Given the description of an element on the screen output the (x, y) to click on. 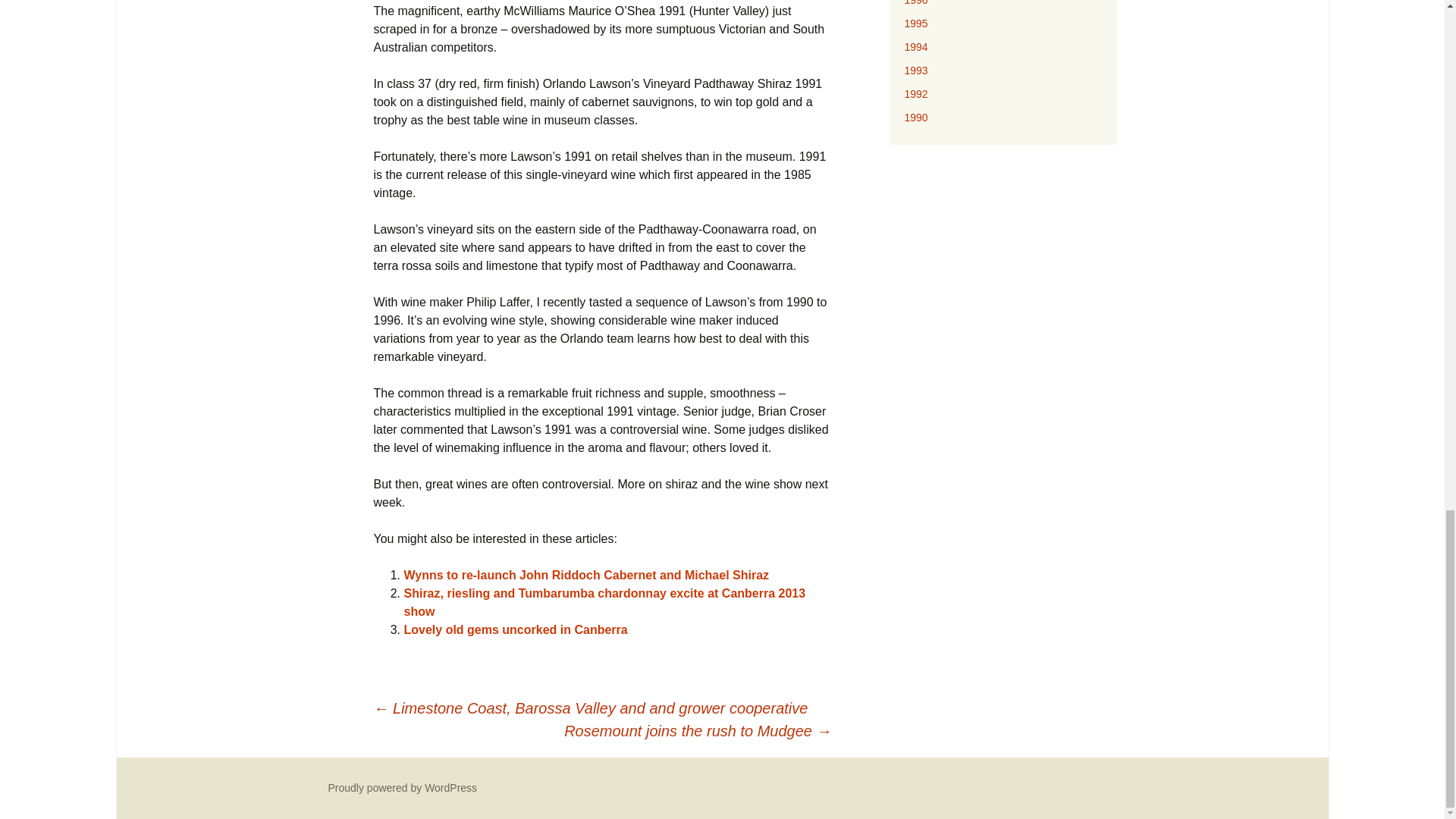
Wynns to re-launch John Riddoch Cabernet and Michael Shiraz (585, 574)
Lovely old gems uncorked in Canberra (515, 629)
Wynns to re-launch John Riddoch Cabernet and Michael Shiraz (585, 574)
Lovely old gems uncorked in Canberra (515, 629)
